Given the description of an element on the screen output the (x, y) to click on. 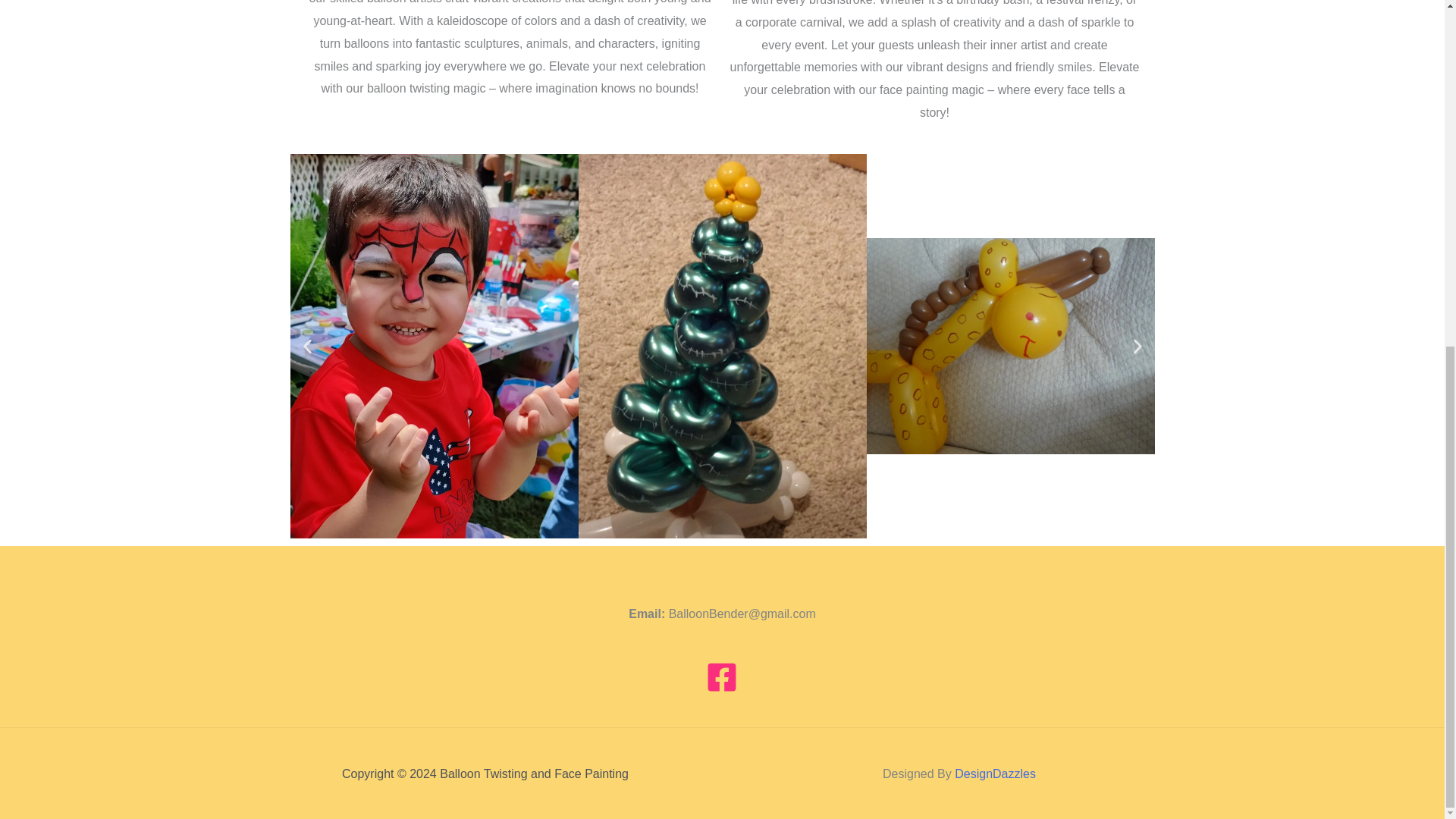
DesignDazzles (995, 773)
